Given the description of an element on the screen output the (x, y) to click on. 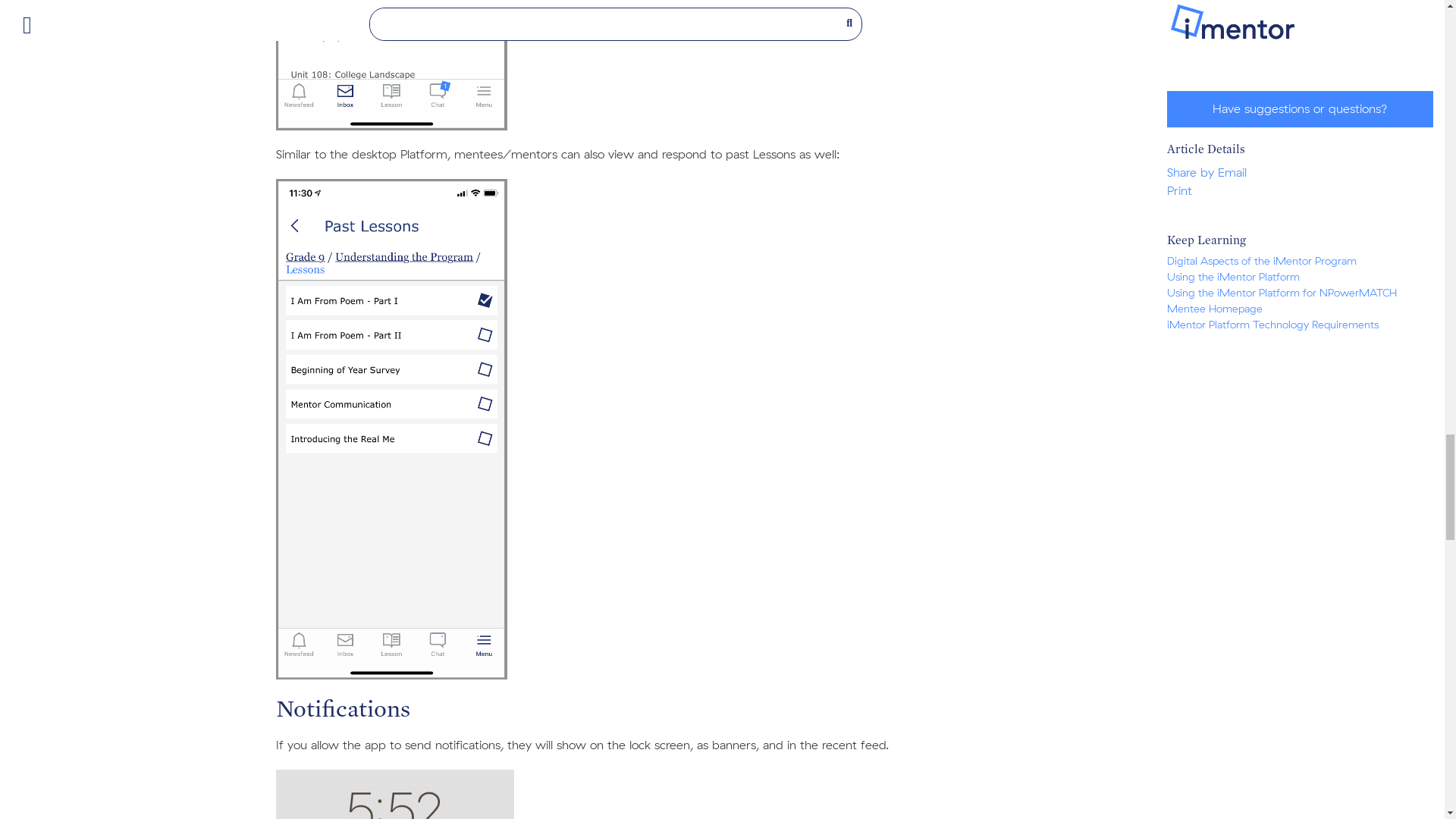
Lock screen notification (394, 794)
